Given the description of an element on the screen output the (x, y) to click on. 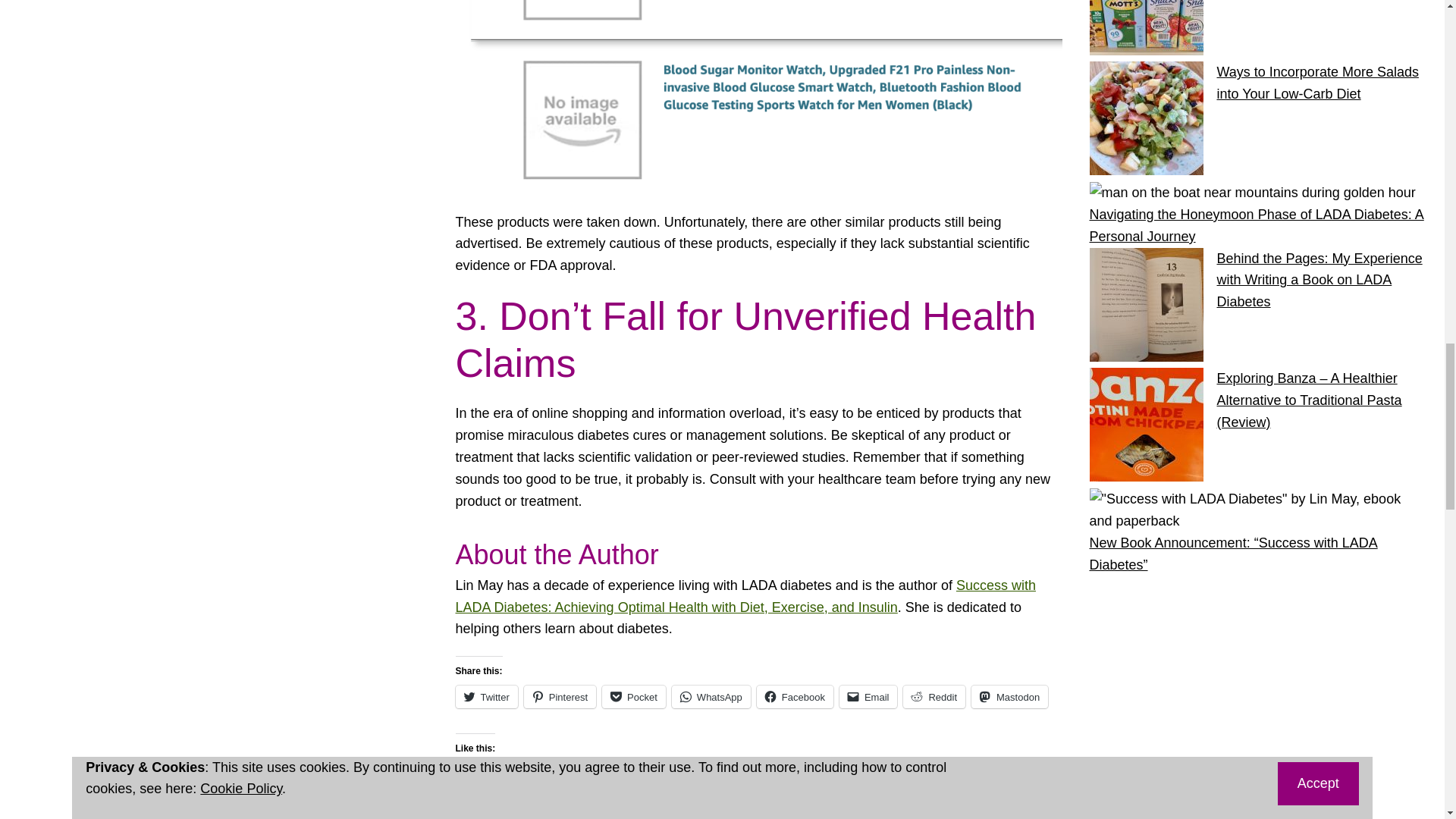
Click to email a link to a friend (869, 696)
WhatsApp (711, 696)
Pinterest (559, 696)
Reddit (933, 696)
Click to share on Mastodon (1009, 696)
Facebook (794, 696)
Click to share on Pocket (633, 696)
Click to share on Pinterest (559, 696)
Twitter (485, 696)
Click to share on WhatsApp (711, 696)
Email (869, 696)
Click to share on Twitter (485, 696)
Pocket (633, 696)
Mastodon (1009, 696)
